Given the description of an element on the screen output the (x, y) to click on. 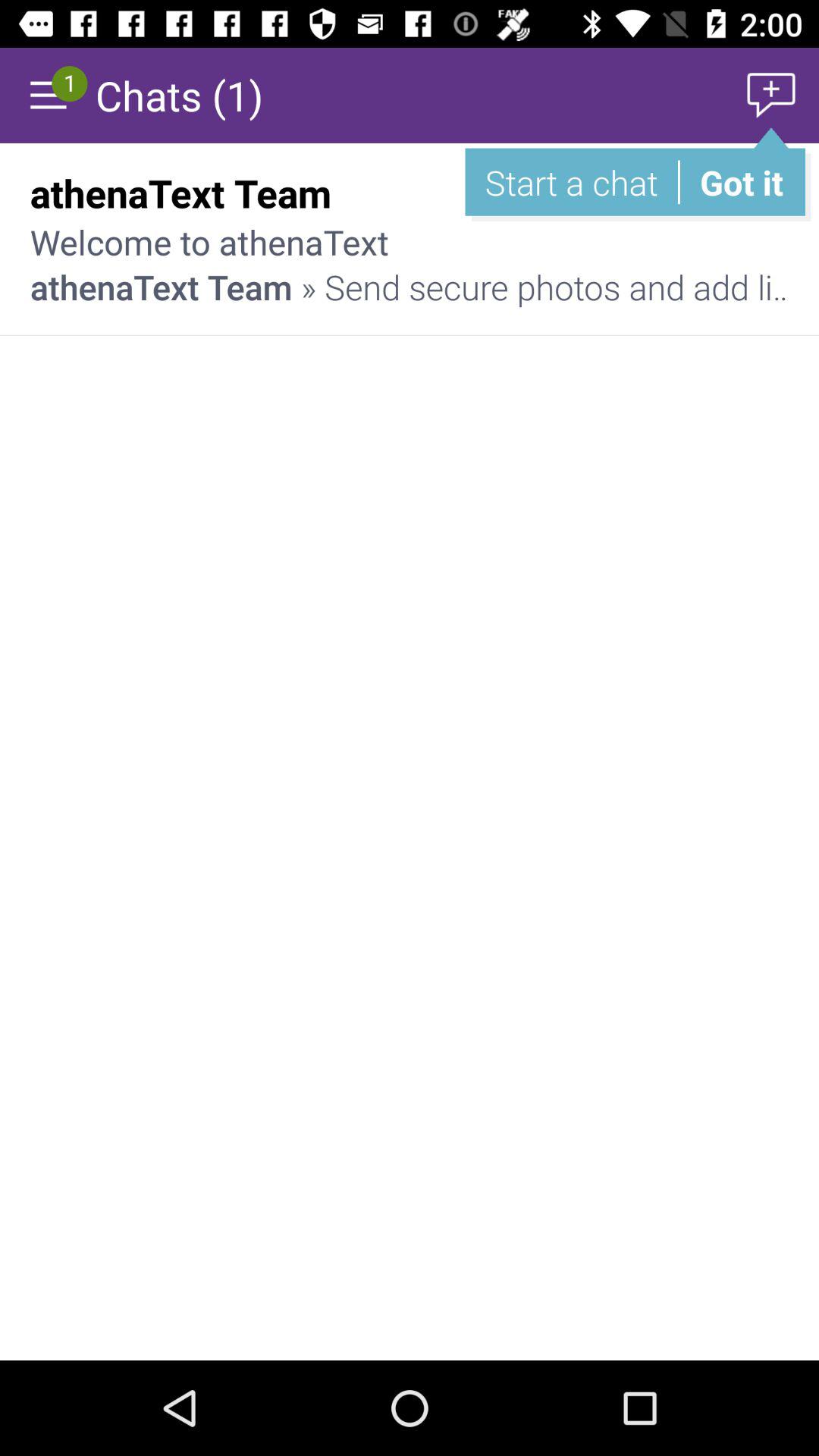
jump until the 1:59 am (735, 192)
